Given the description of an element on the screen output the (x, y) to click on. 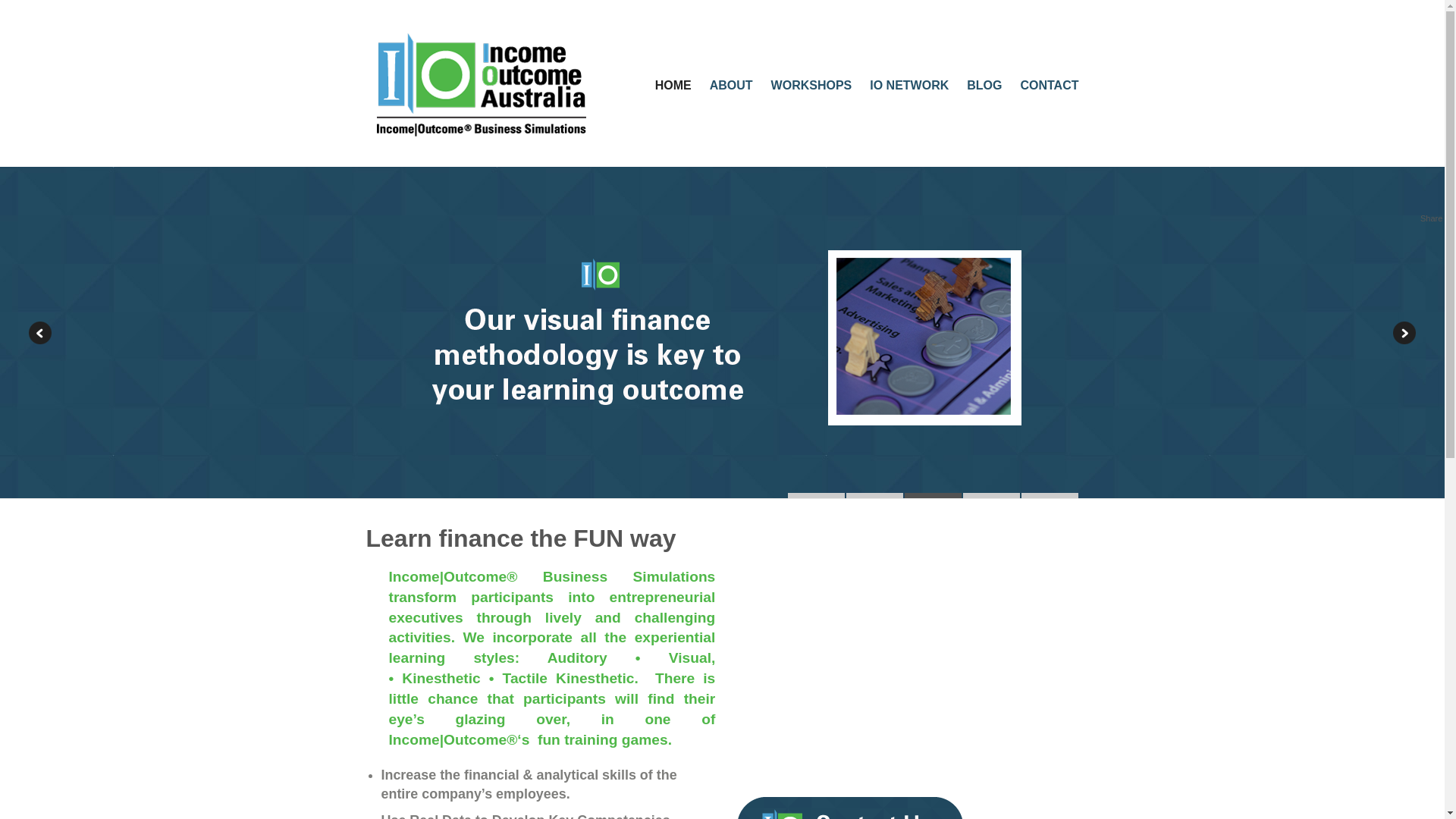
BLOG Element type: text (983, 84)
HOME Element type: text (673, 84)
WORKSHOPS Element type: text (811, 84)
CONTACT Element type: text (1048, 84)
